Given the description of an element on the screen output the (x, y) to click on. 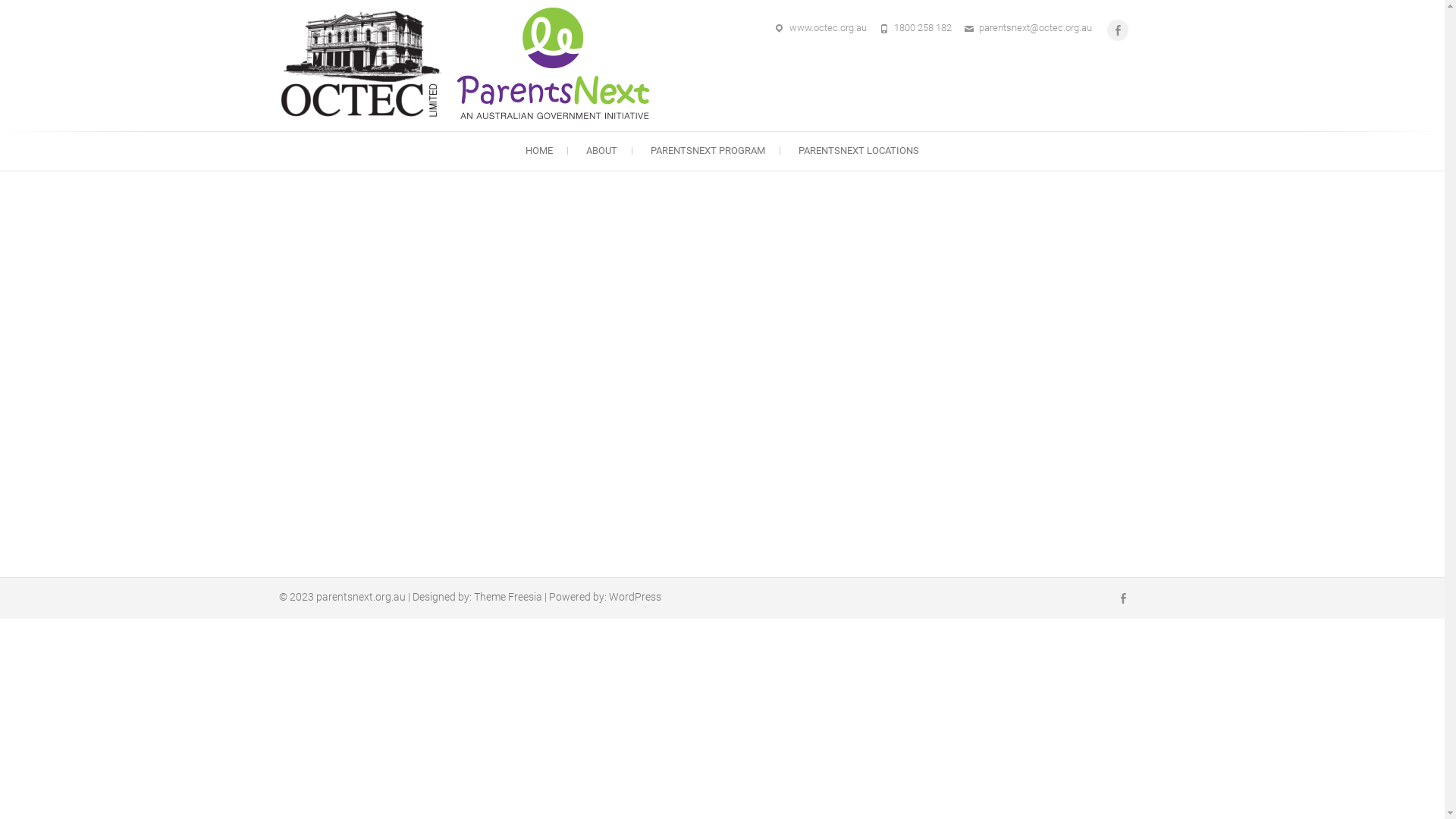
WordPress Element type: text (634, 596)
parentsnext.org.au Element type: text (359, 596)
parentsnext.org.au Element type: hover (467, 63)
HOME Element type: text (538, 150)
PARENTSNEXT PROGRAM Element type: text (707, 150)
ABOUT Element type: text (601, 150)
1800 258 182 Element type: text (921, 27)
parentsnext@octec.org.au Element type: text (1034, 27)
parentsnext.org.au Element type: text (738, 138)
www.octec.org.au Element type: text (827, 27)
Theme Freesia Element type: text (507, 596)
PARENTSNEXT LOCATIONS Element type: text (858, 150)
